Given the description of an element on the screen output the (x, y) to click on. 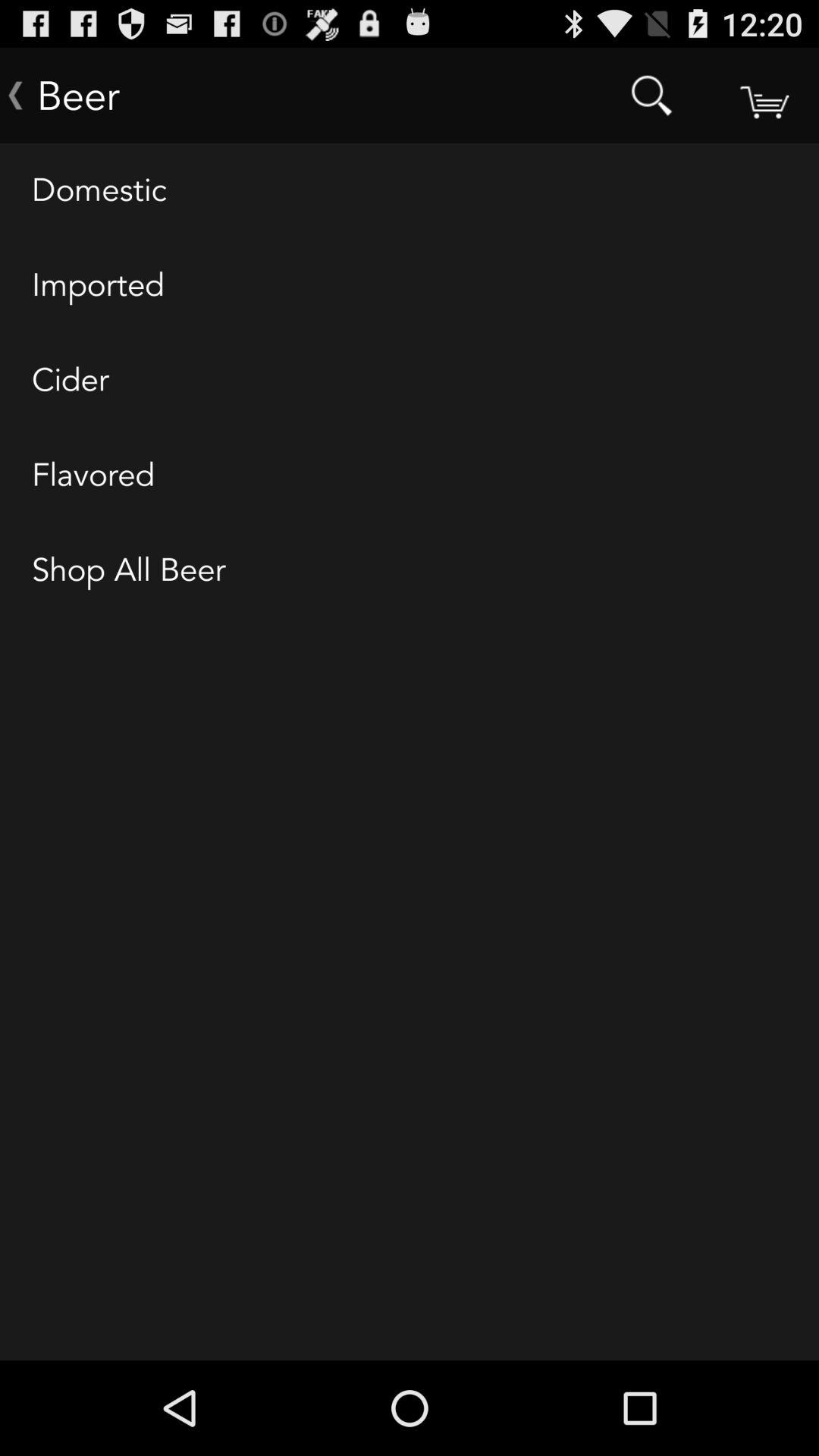
checkout (763, 95)
